Given the description of an element on the screen output the (x, y) to click on. 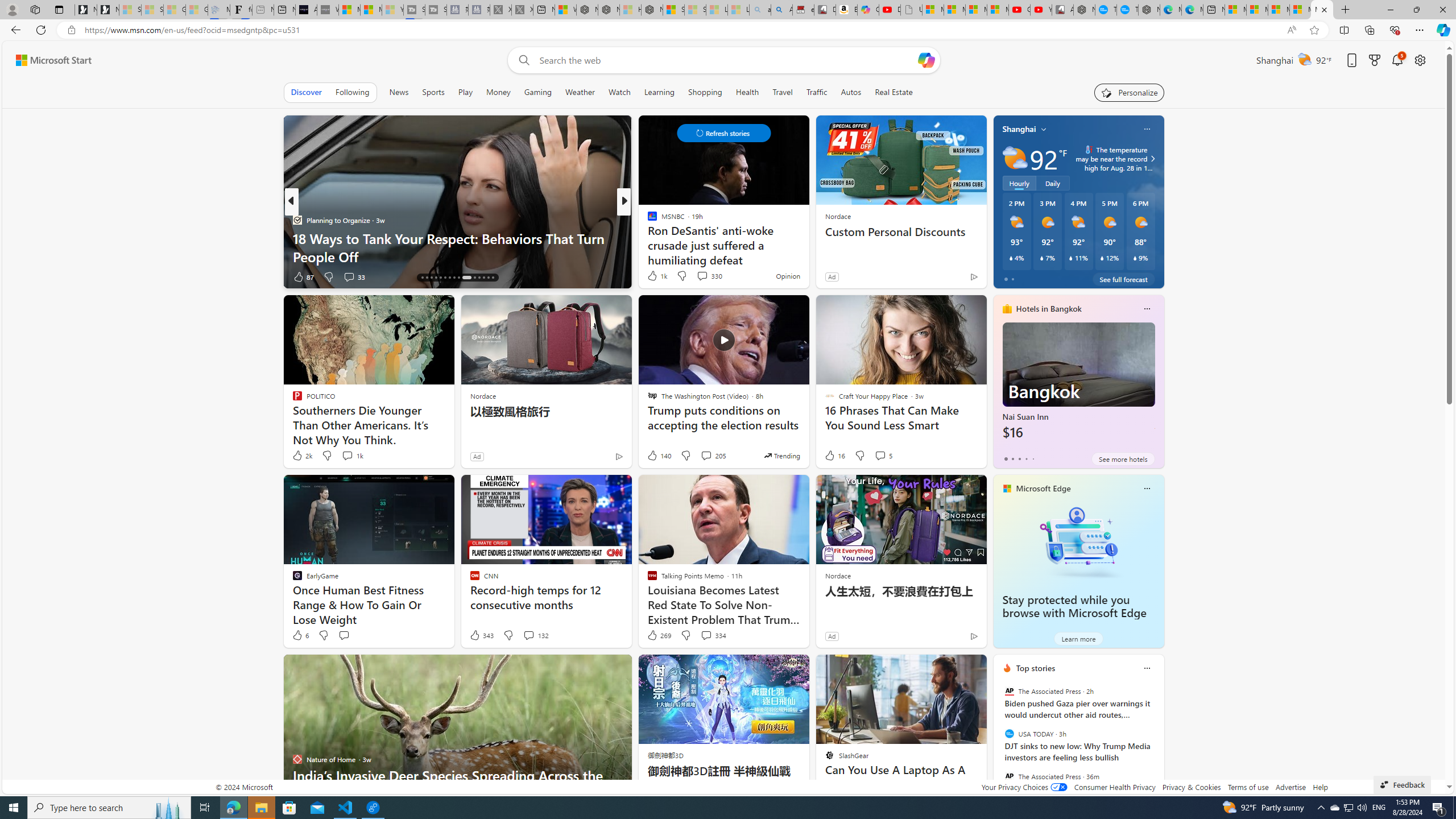
Class: icon-img (1146, 668)
1k Like (656, 275)
Wildlife - MSN (565, 9)
Your Privacy Choices (1024, 786)
amazon - Search - Sleeping (760, 9)
AutomationID: tab-18 (431, 277)
Business Insider (647, 219)
View comments 334 Comment (705, 635)
Open Copilot (925, 59)
Comments turned off for this story (695, 276)
343 Like (480, 634)
Gloom - YouTube (1019, 9)
AI Voice Changer for PC and Mac - Voice.ai (306, 9)
Newsweek (647, 219)
AutomationID: tab-25 (466, 277)
